Given the description of an element on the screen output the (x, y) to click on. 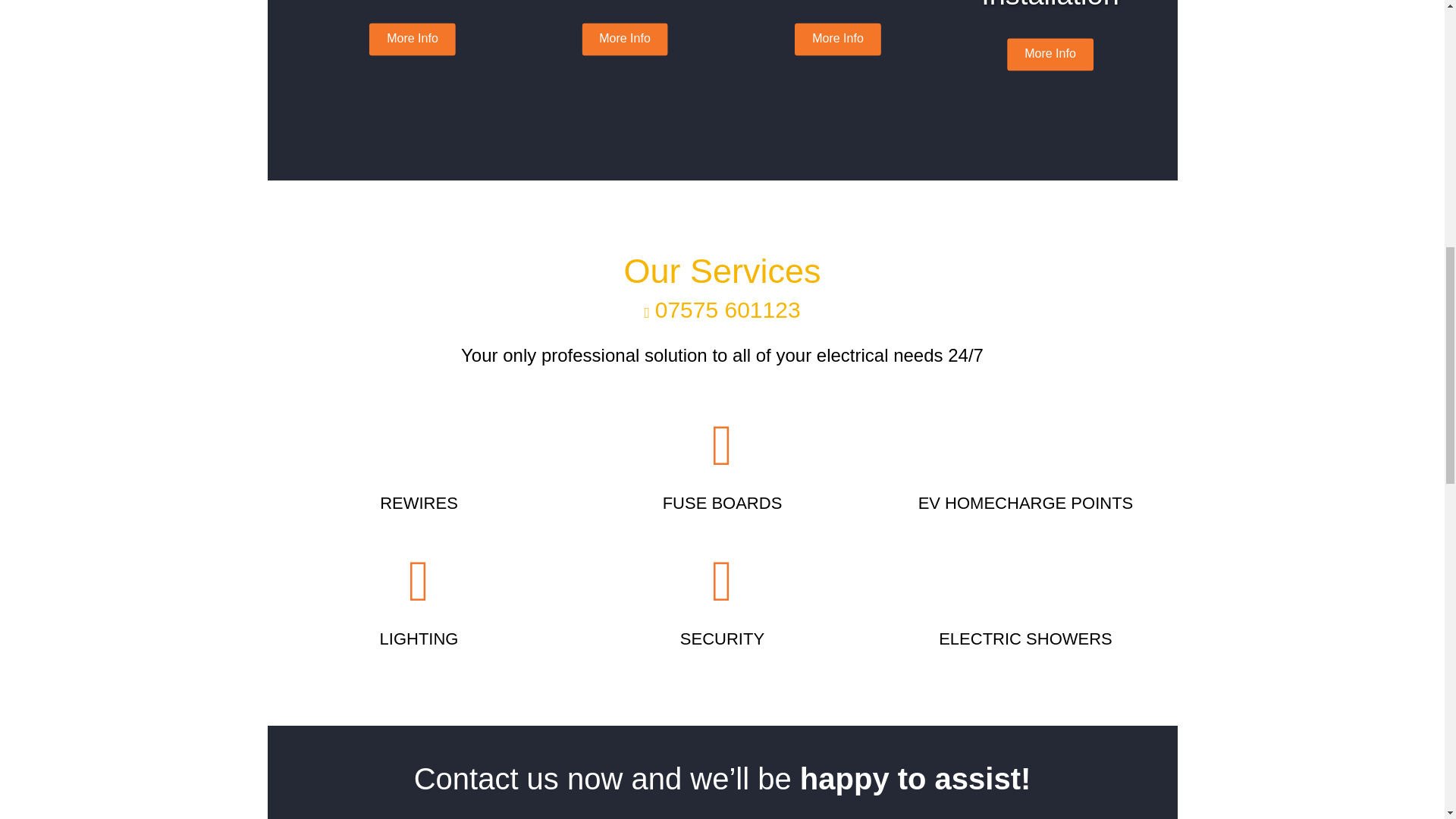
SECURITY (721, 638)
ELECTRIC SHOWERS (1025, 638)
More Info (837, 39)
More Info (412, 39)
More Info (1050, 54)
FUSE BOARDS (722, 502)
REWIRES (419, 502)
More Info (624, 39)
LIGHTING (419, 638)
EV HOMECHARGE POINTS (1026, 502)
